Given the description of an element on the screen output the (x, y) to click on. 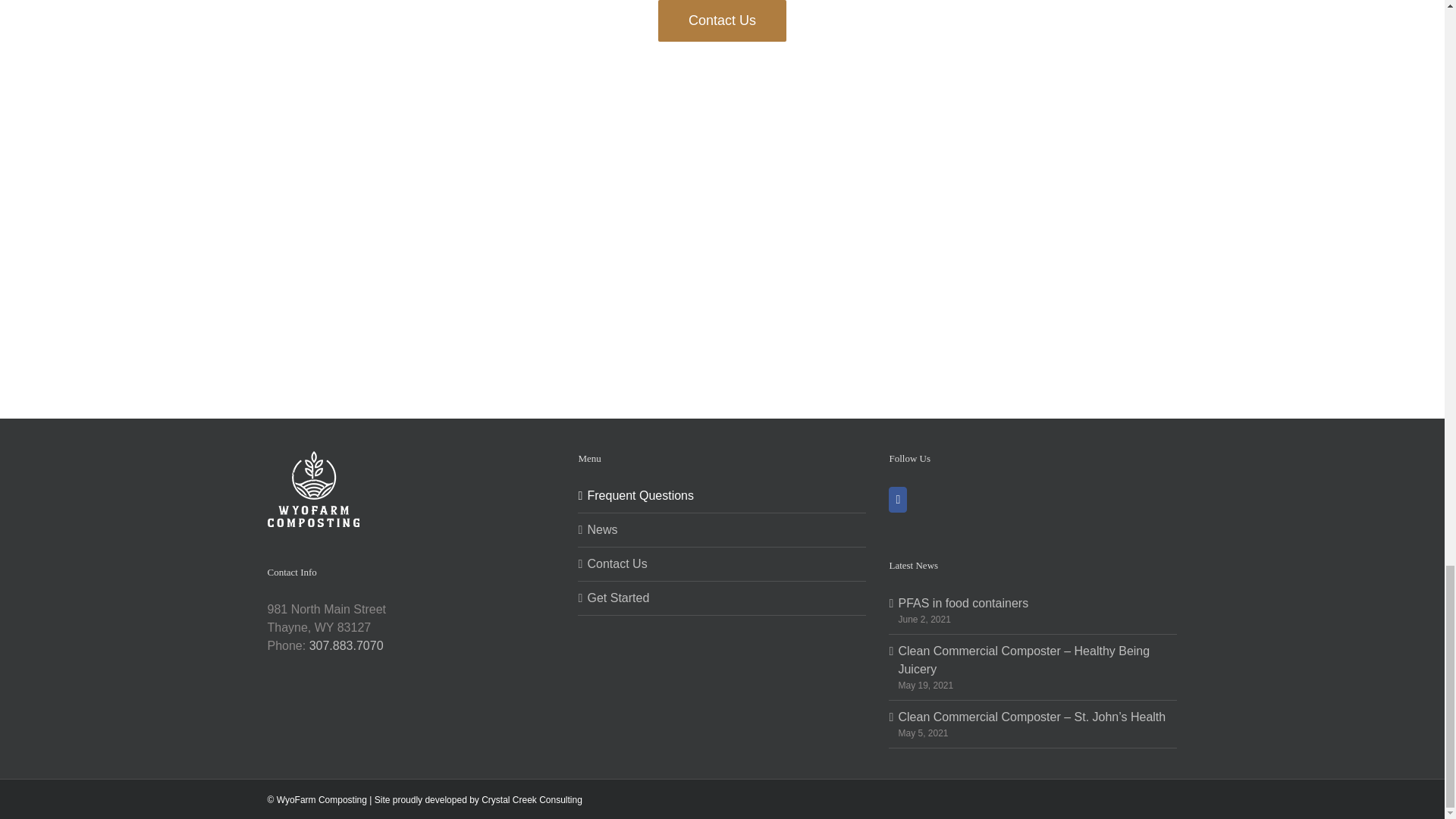
Get Started (722, 597)
Contact Us (722, 20)
Frequent Questions (722, 495)
News (722, 529)
PFAS in food containers (1033, 603)
Contact Us (722, 564)
Crystal Creek Consulting (531, 799)
307.883.7070 (346, 645)
